Given the description of an element on the screen output the (x, y) to click on. 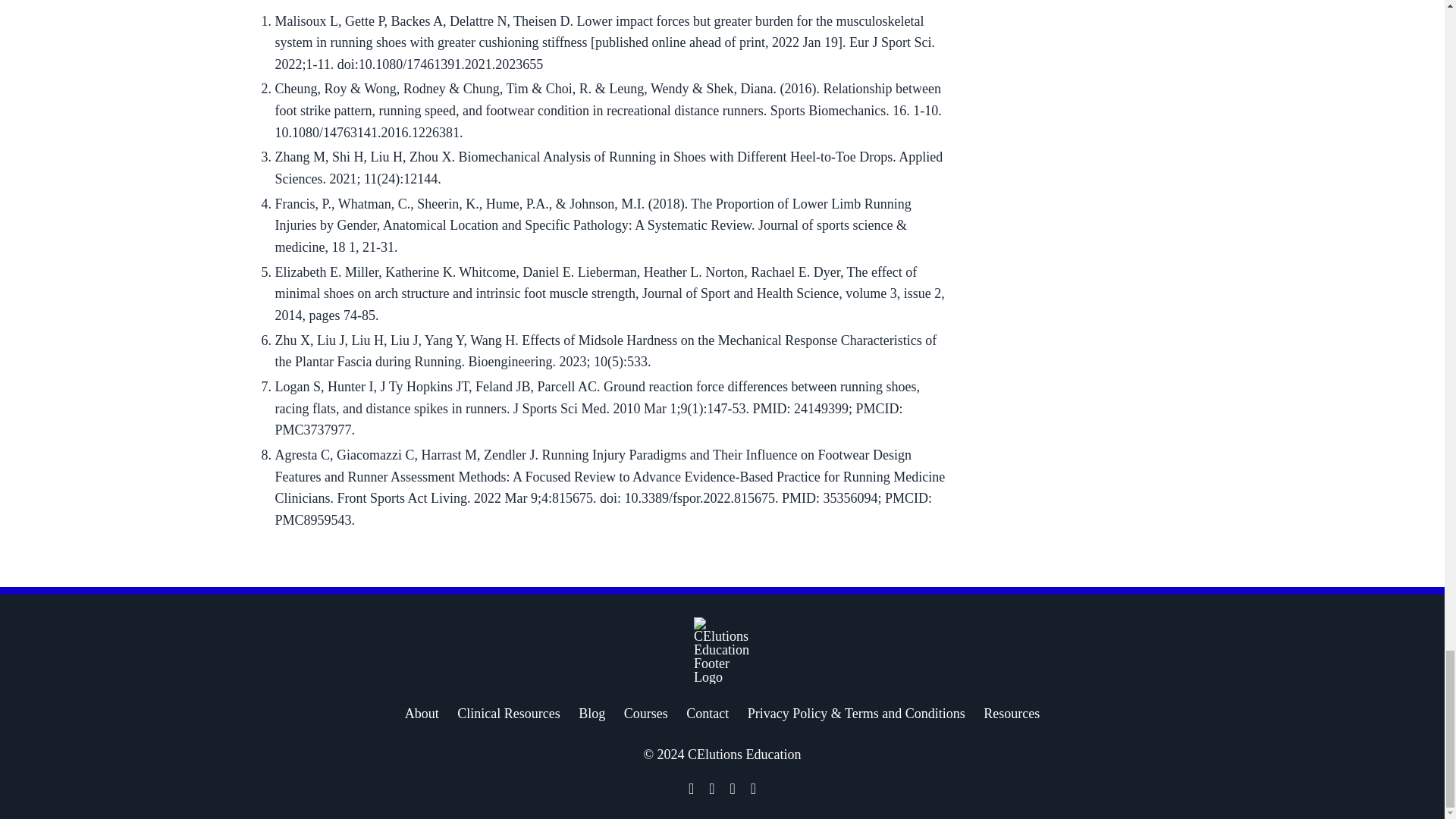
Contact (707, 713)
About (421, 713)
Blog (591, 713)
Clinical Resources (508, 713)
Courses (646, 713)
